Given the description of an element on the screen output the (x, y) to click on. 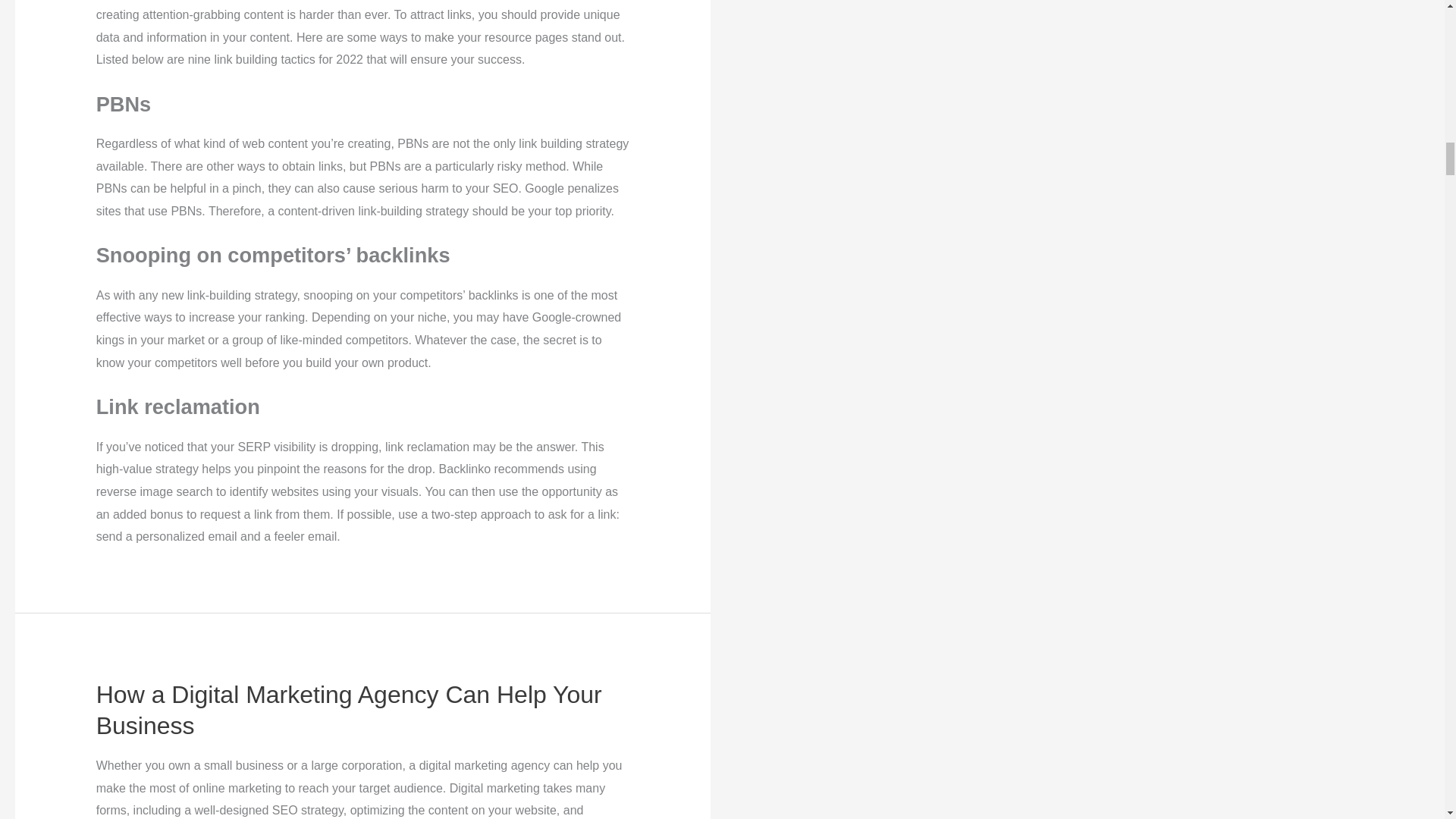
How a Digital Marketing Agency Can Help Your Business (349, 710)
